Given the description of an element on the screen output the (x, y) to click on. 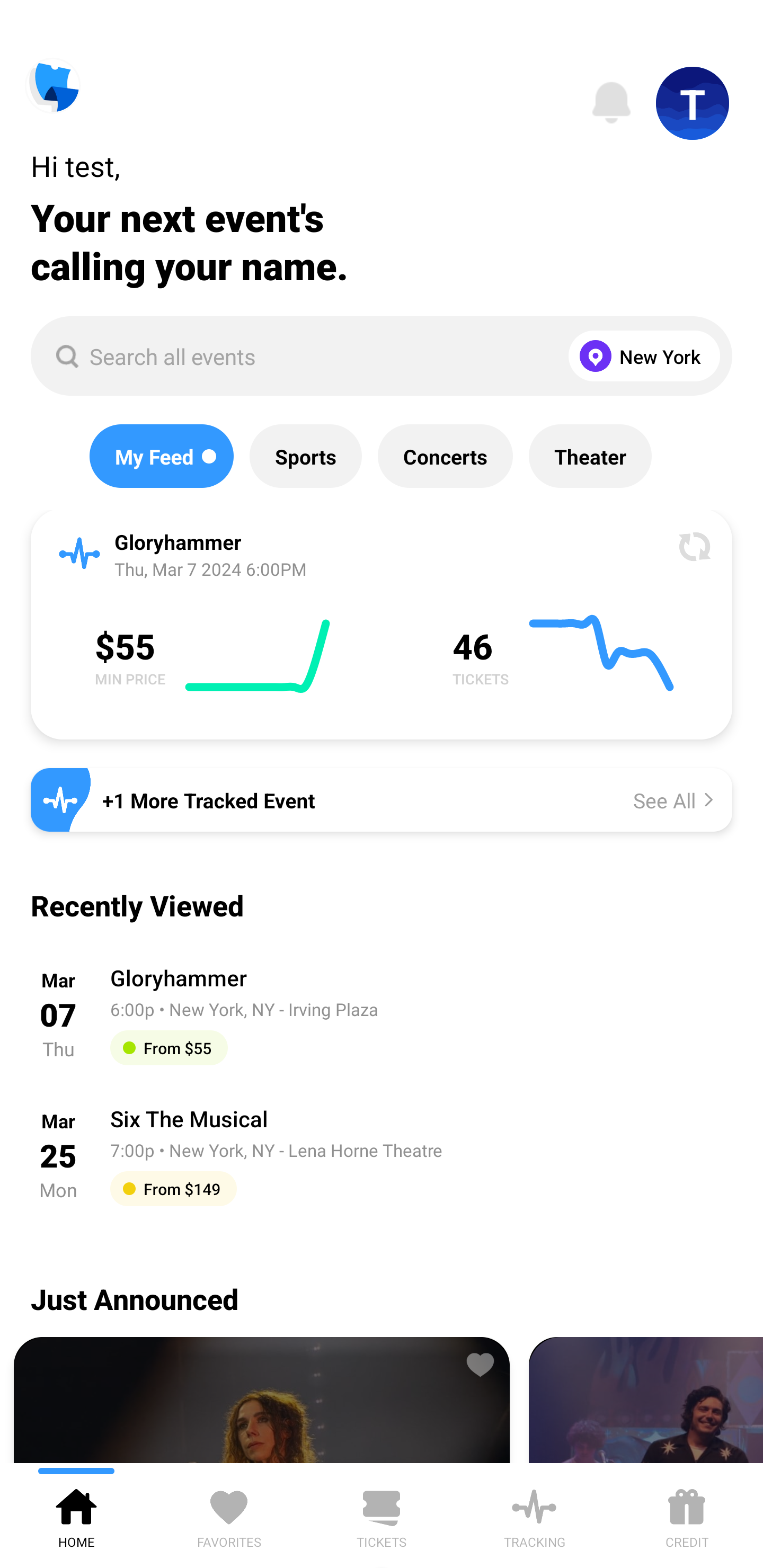
T (692, 103)
New York (640, 355)
My Feed (161, 455)
Sports (305, 455)
Concerts (444, 455)
Theater (589, 455)
HOME (76, 1515)
FAVORITES (228, 1515)
TICKETS (381, 1515)
TRACKING (533, 1515)
CREDIT (686, 1515)
